Given the description of an element on the screen output the (x, y) to click on. 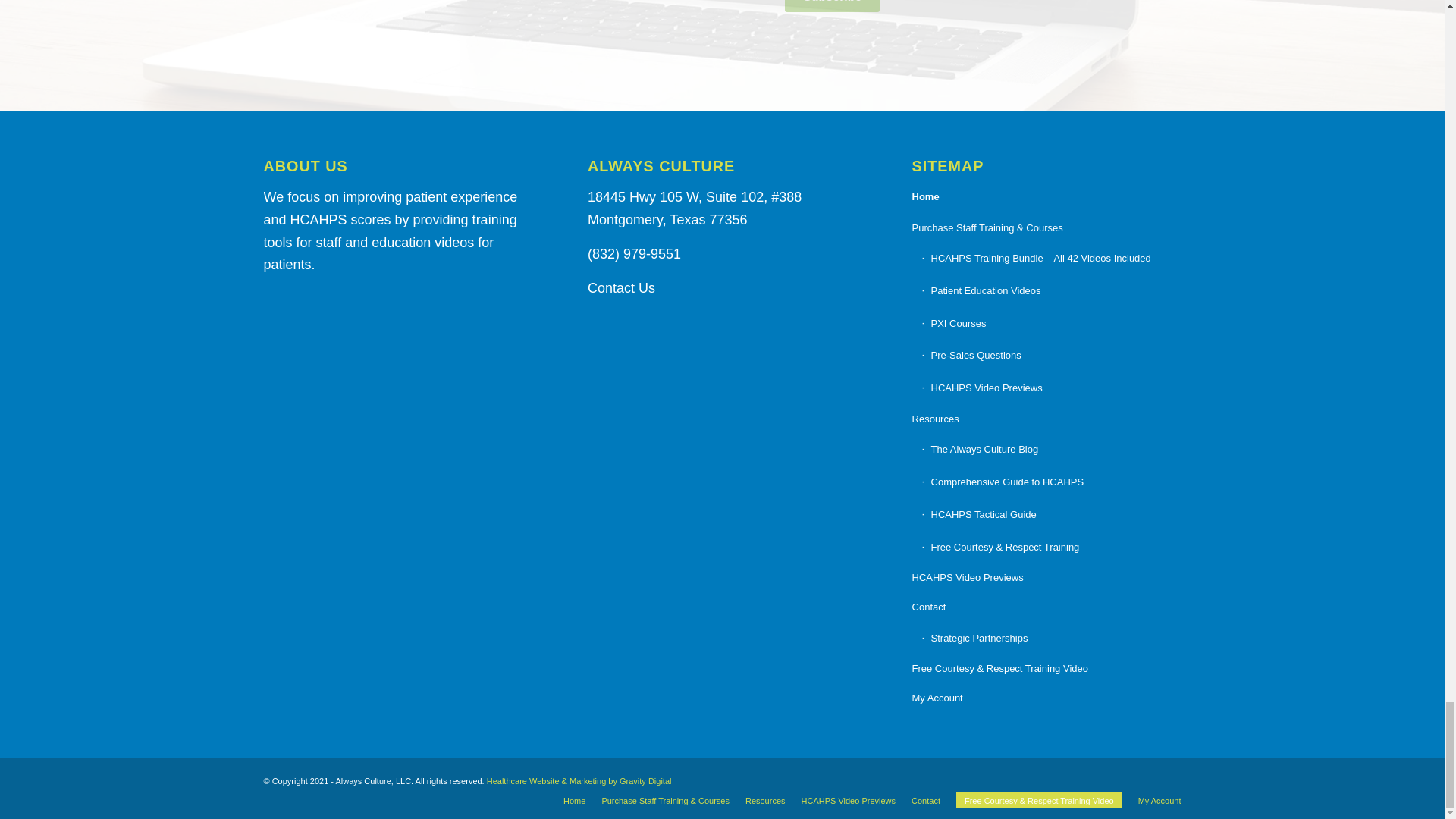
Patient Education Videos (1050, 291)
Home (1046, 196)
Contact Us (621, 287)
Subscribe (831, 6)
Pre-Sales Questions (1050, 355)
PXI Courses (1050, 323)
